Given the description of an element on the screen output the (x, y) to click on. 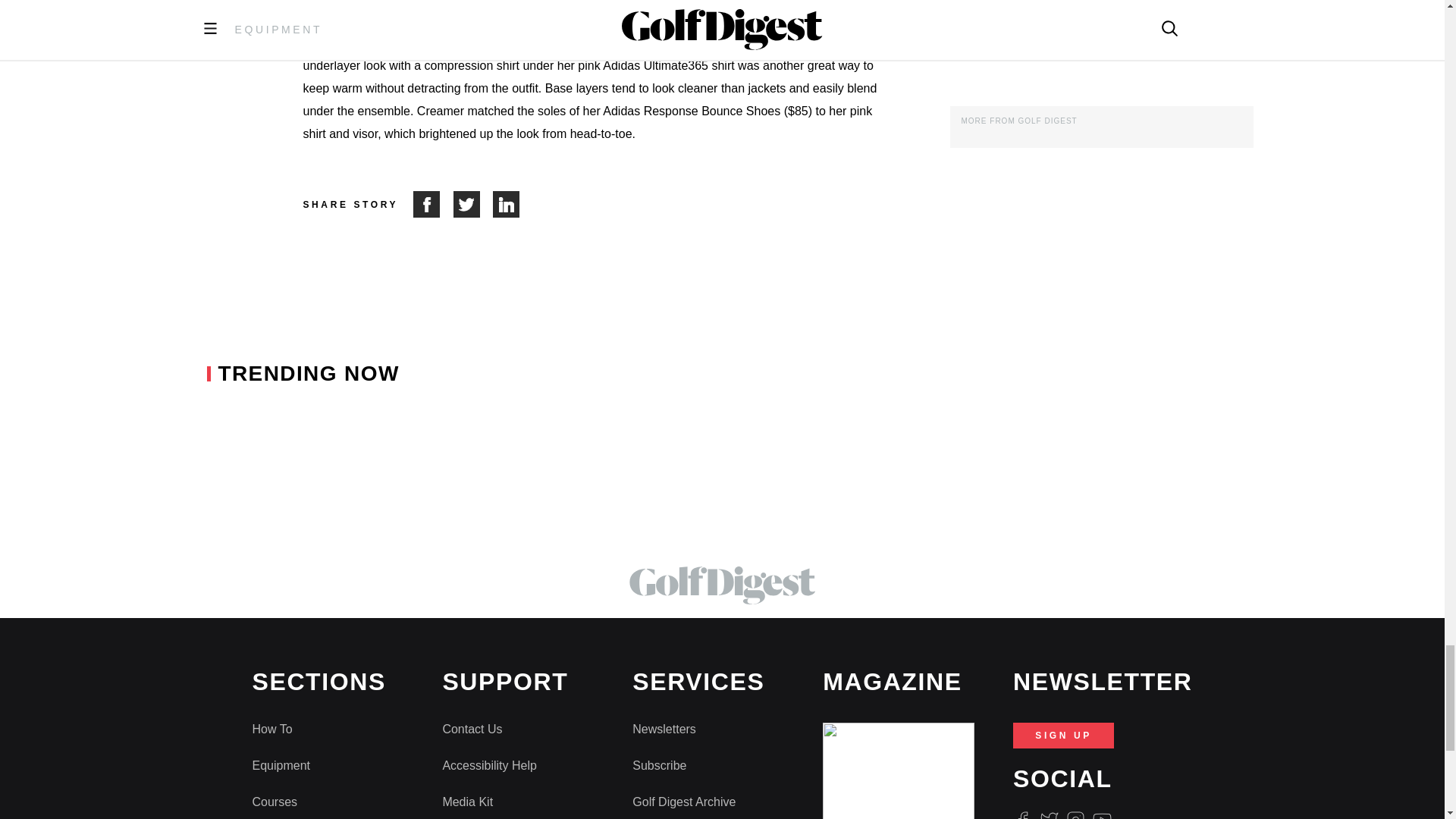
Share on Facebook (432, 203)
Youtube Icon (1102, 814)
Share on Twitter (472, 203)
Instagram Logo (1074, 814)
Share on LinkedIn (506, 203)
Twitter Logo (1048, 814)
Facebook Logo (1022, 814)
